Given the description of an element on the screen output the (x, y) to click on. 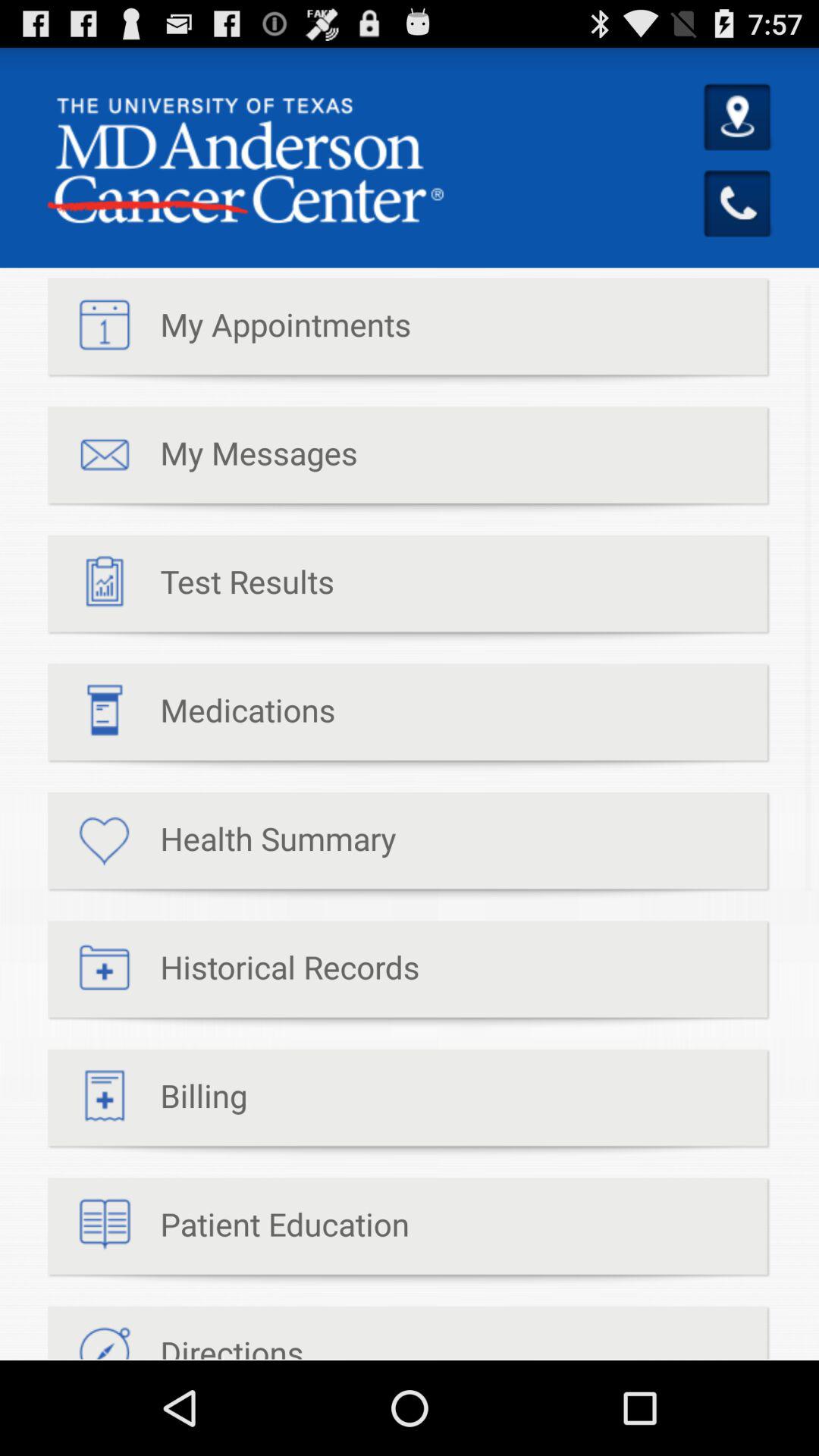
press my messages (202, 460)
